Given the description of an element on the screen output the (x, y) to click on. 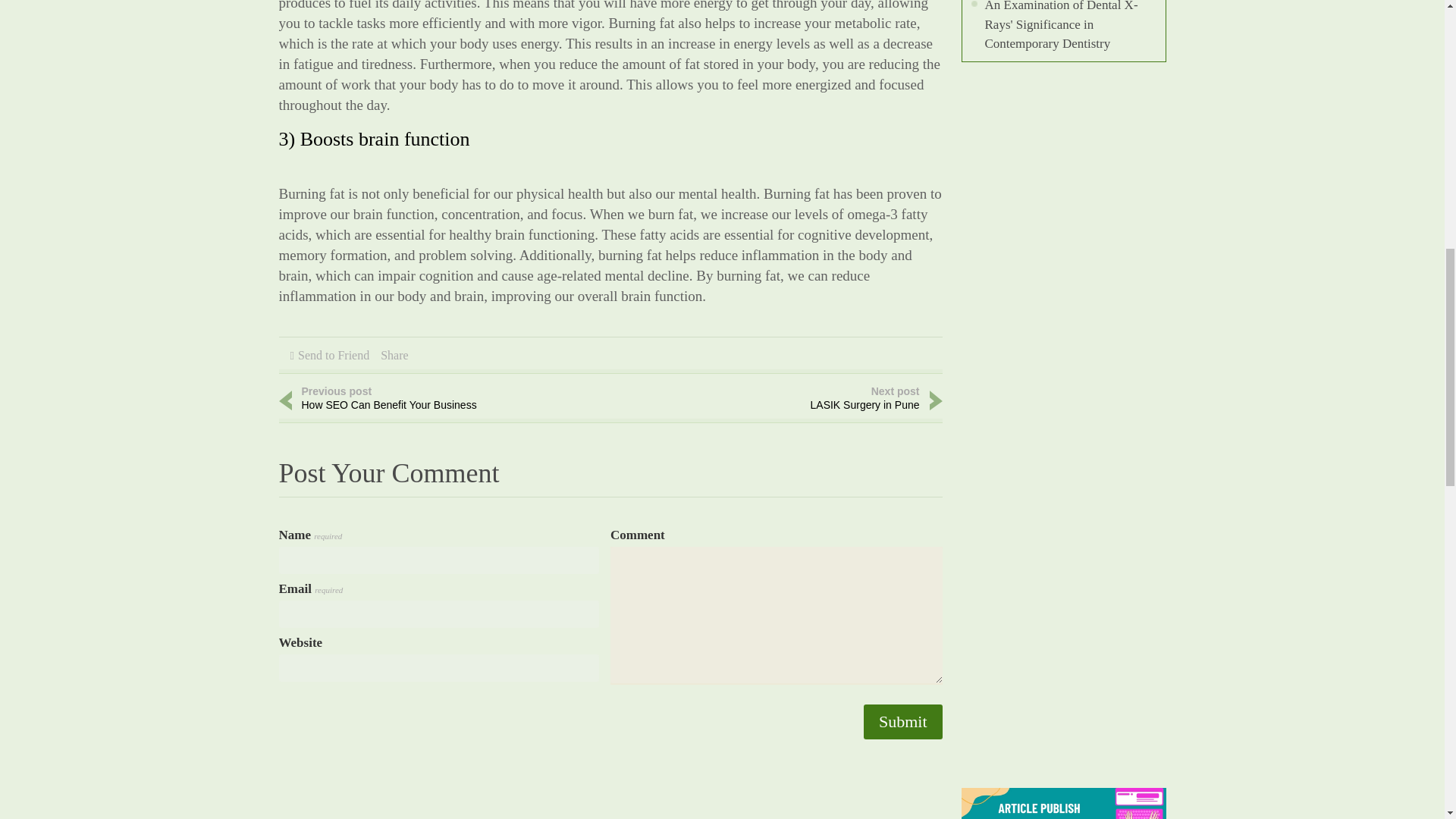
Submit (902, 721)
Share (393, 354)
Submit (797, 399)
Send to Friend (423, 399)
